Given the description of an element on the screen output the (x, y) to click on. 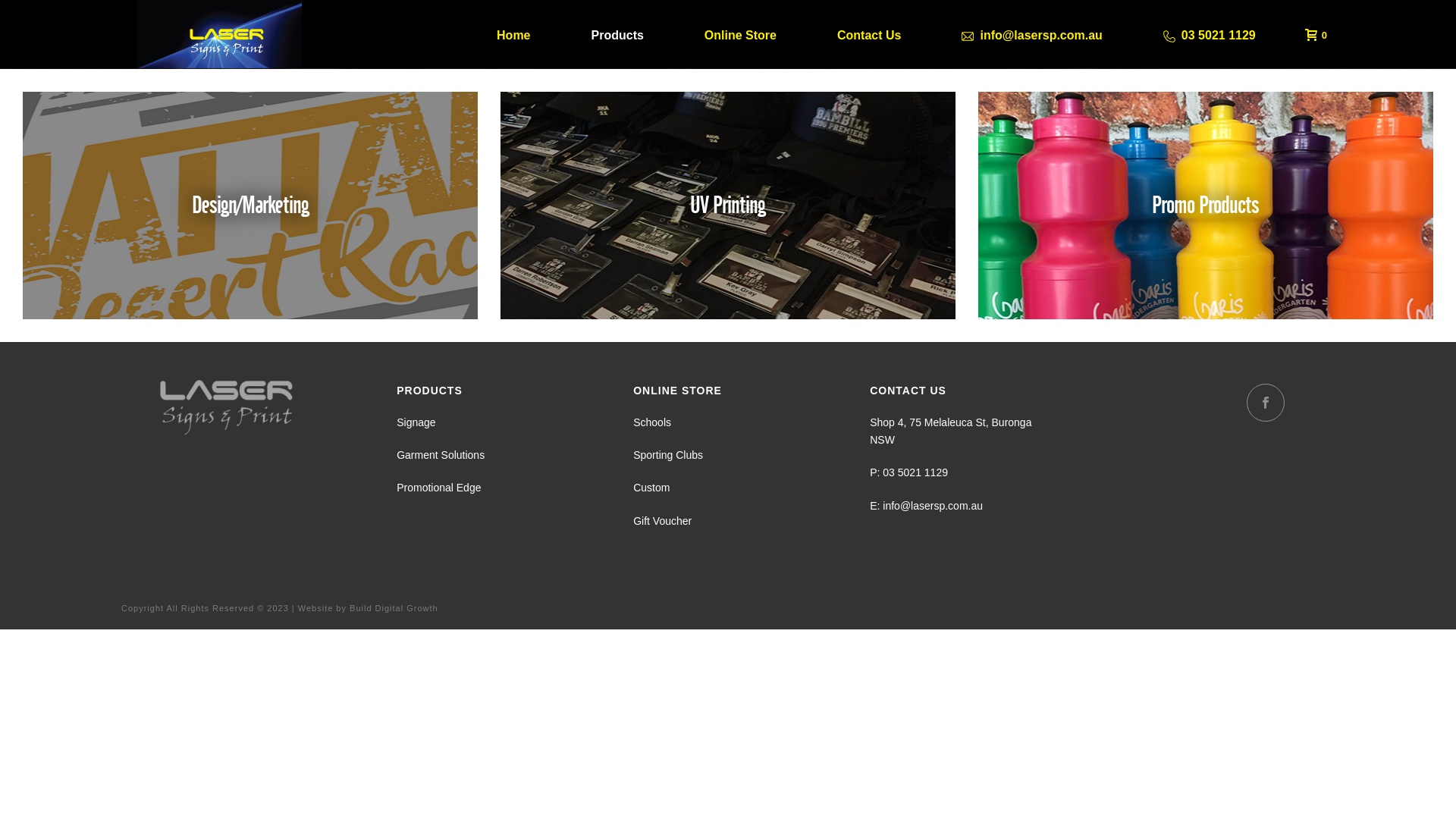
info@lasersp.com.au Element type: text (932, 505)
0 Element type: text (1311, 33)
Schools Element type: text (652, 422)
Website by Build Digital Growth Element type: text (368, 607)
VIEW DESIGN/MARKETING Element type: text (250, 221)
Sporting Clubs Element type: text (667, 454)
VIEW PROMO PRODUCTS Element type: text (1205, 221)
VIEW UV PRINTING Element type: text (727, 221)
Promo Products
VIEW PROMO PRODUCTS Element type: text (1205, 205)
Contact Us Element type: text (868, 34)
Gift Voucher Element type: text (662, 520)
Custom Element type: text (651, 487)
UV Printing
VIEW UV PRINTING Element type: text (727, 205)
Online Store Element type: text (740, 34)
Promotional Edge Element type: text (438, 487)
Design/Marketing
VIEW DESIGN/MARKETING Element type: text (249, 205)
03 5021 1129 Element type: text (1209, 34)
info@lasersp.com.au Element type: text (1031, 34)
Garment Solutions Element type: text (440, 454)
Home Element type: text (513, 34)
Follow Us on facebook Element type: hover (1265, 402)
Signage Element type: text (415, 422)
03 5021 1129 Element type: text (914, 472)
Products Element type: text (617, 34)
